Given the description of an element on the screen output the (x, y) to click on. 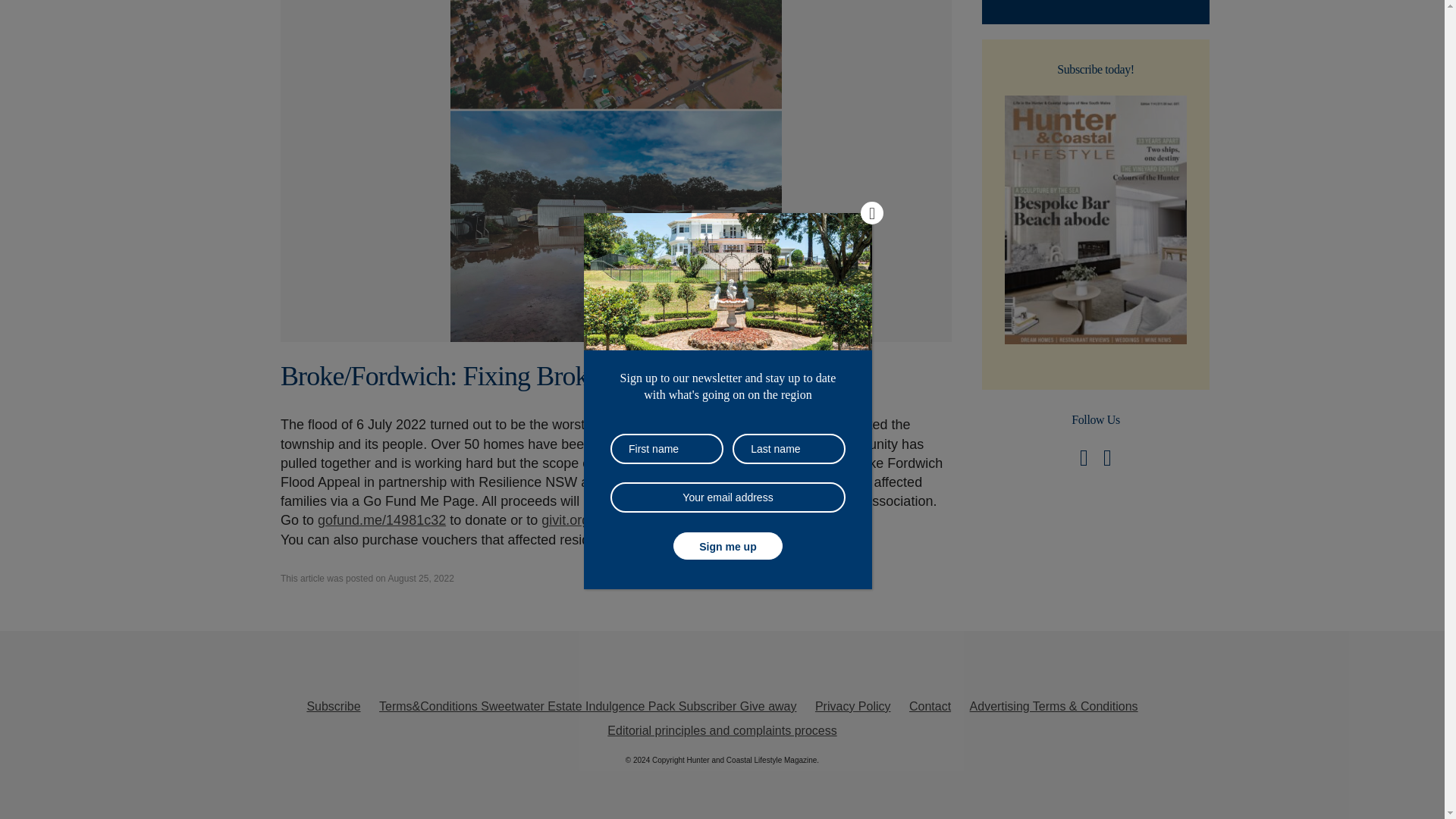
Sign me up (727, 22)
